Given the description of an element on the screen output the (x, y) to click on. 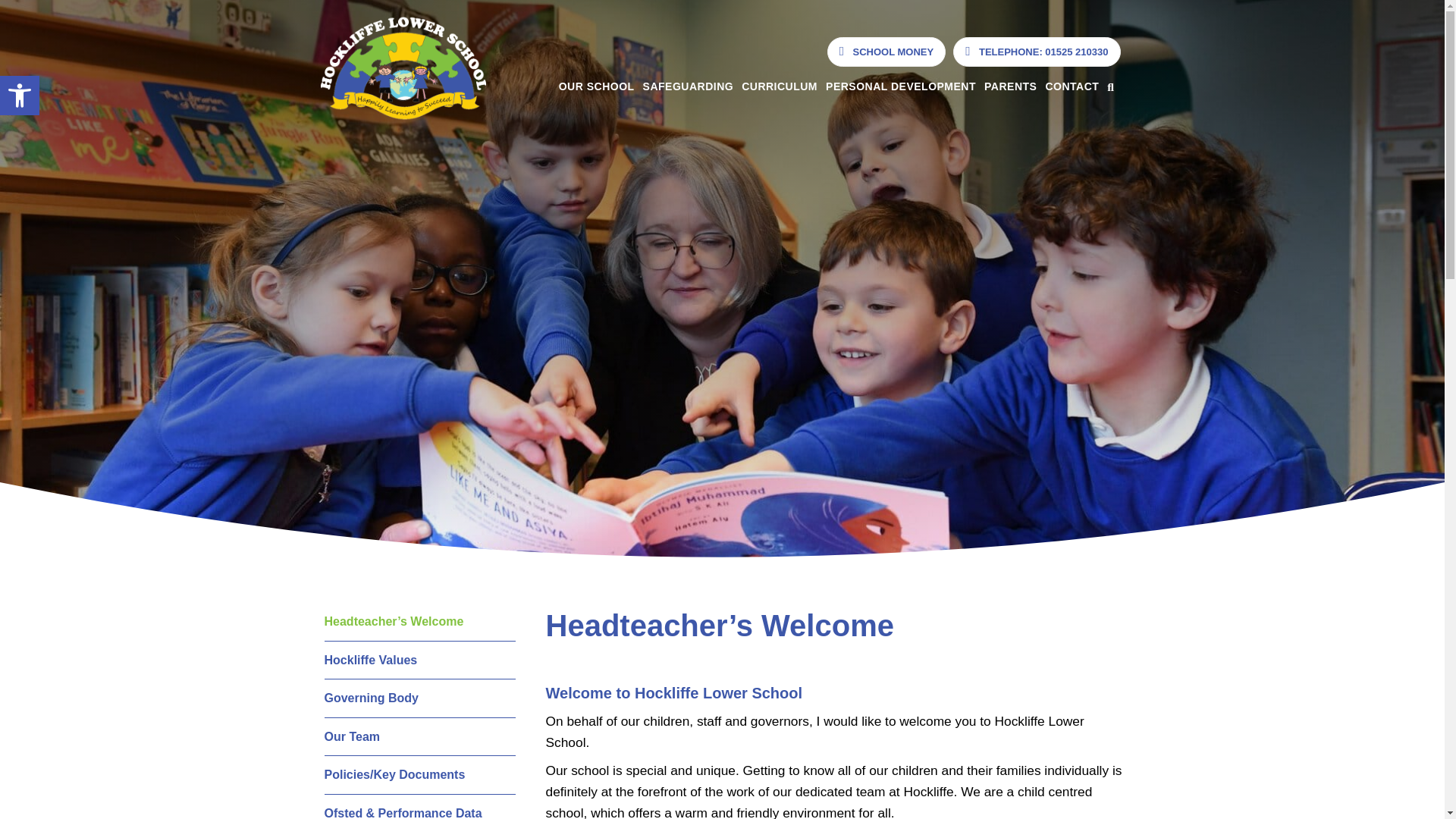
Accessibility Tools (19, 95)
Accessibility Tools (19, 95)
TELEPHONE: 01525 210330 (19, 95)
CURRICULUM (1036, 51)
PARENTS (774, 86)
OUR SCHOOL (1006, 86)
logo (592, 86)
SCHOOL MONEY (403, 68)
PERSONAL DEVELOPMENT (885, 51)
SAFEGUARDING (896, 86)
